Given the description of an element on the screen output the (x, y) to click on. 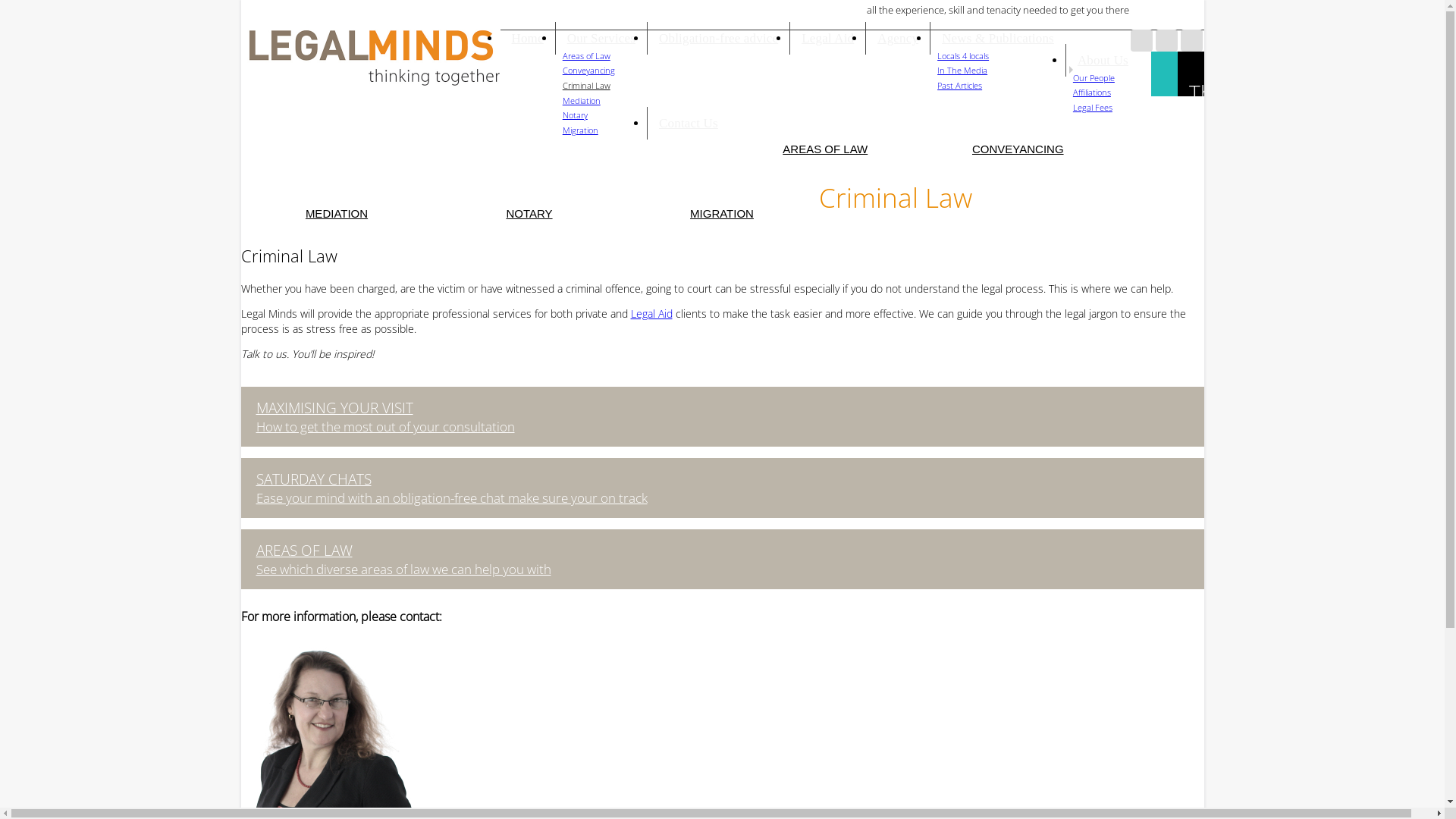
CONVEYANCING Element type: text (1018, 147)
MEDIATION Element type: text (337, 211)
AREAS OF LAW Element type: text (825, 147)
Agency Element type: text (897, 37)
Mediation Element type: text (581, 100)
Areas of Law Element type: text (586, 55)
Our Services Element type: text (600, 37)
Contact Us Element type: text (687, 122)
Legal Fees Element type: text (1092, 107)
About Us Element type: text (1102, 59)
In The Media Element type: text (961, 69)
Our People Element type: text (1093, 77)
MIGRATION Element type: text (722, 211)
Obligation-free advice Element type: text (717, 37)
Locals 4 locals Element type: text (962, 55)
Migration Element type: text (580, 129)
Affiliations Element type: text (1091, 91)
News & Publications Element type: text (997, 37)
Legal Aid Element type: text (827, 37)
Legal Aid Element type: text (651, 313)
Criminal Law Element type: text (586, 85)
Home Element type: text (527, 37)
NOTARY Element type: text (529, 211)
Past Articles Element type: text (959, 85)
Conveyancing Element type: text (588, 69)
Notary Element type: text (575, 114)
